Given the description of an element on the screen output the (x, y) to click on. 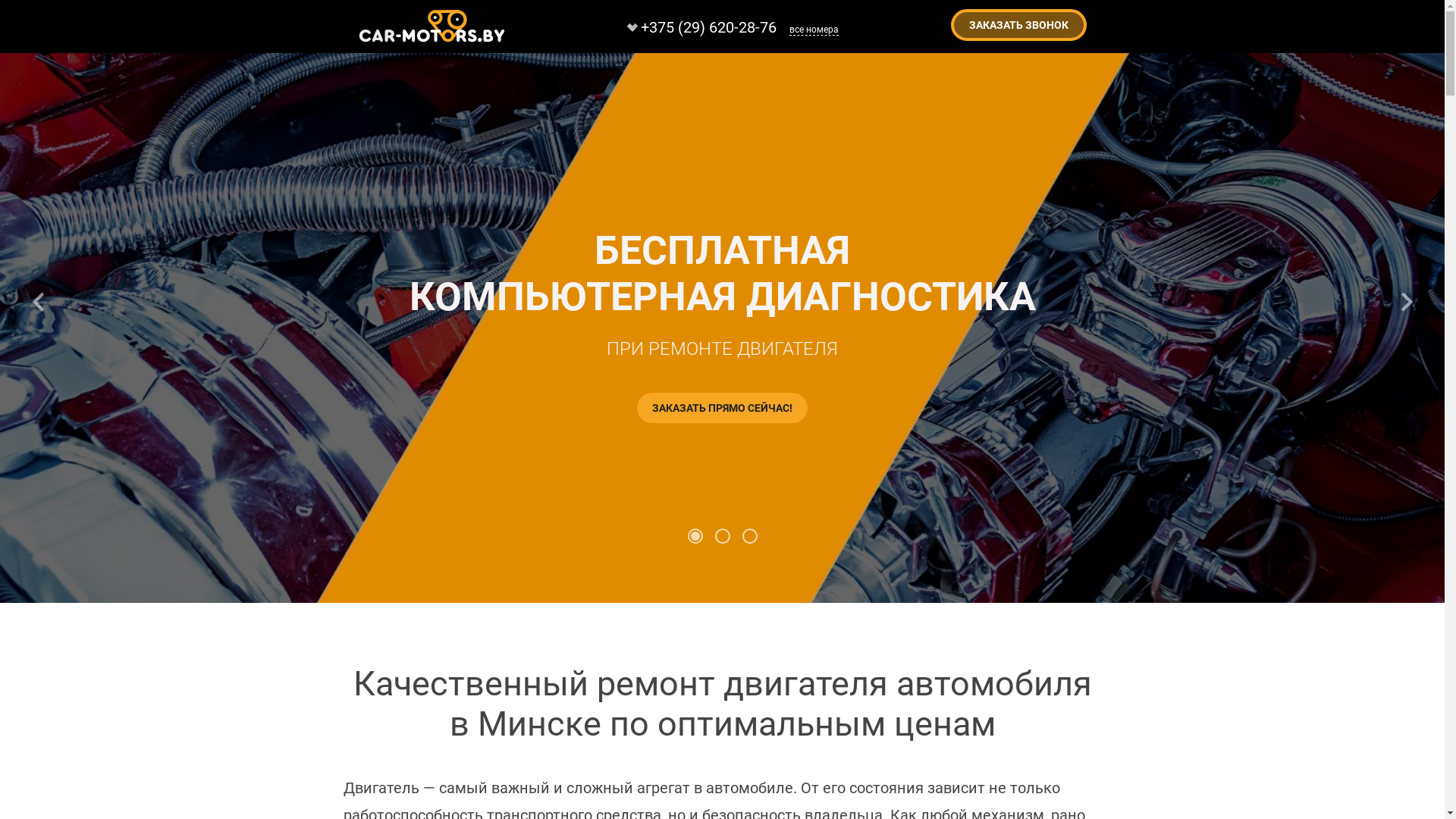
+375 (29) 620-28-76 Element type: text (696, 27)
1 Element type: text (694, 535)
3 Element type: text (748, 535)
2 Element type: text (721, 535)
Previous Element type: text (37, 301)
Next Element type: text (1406, 301)
